Given the description of an element on the screen output the (x, y) to click on. 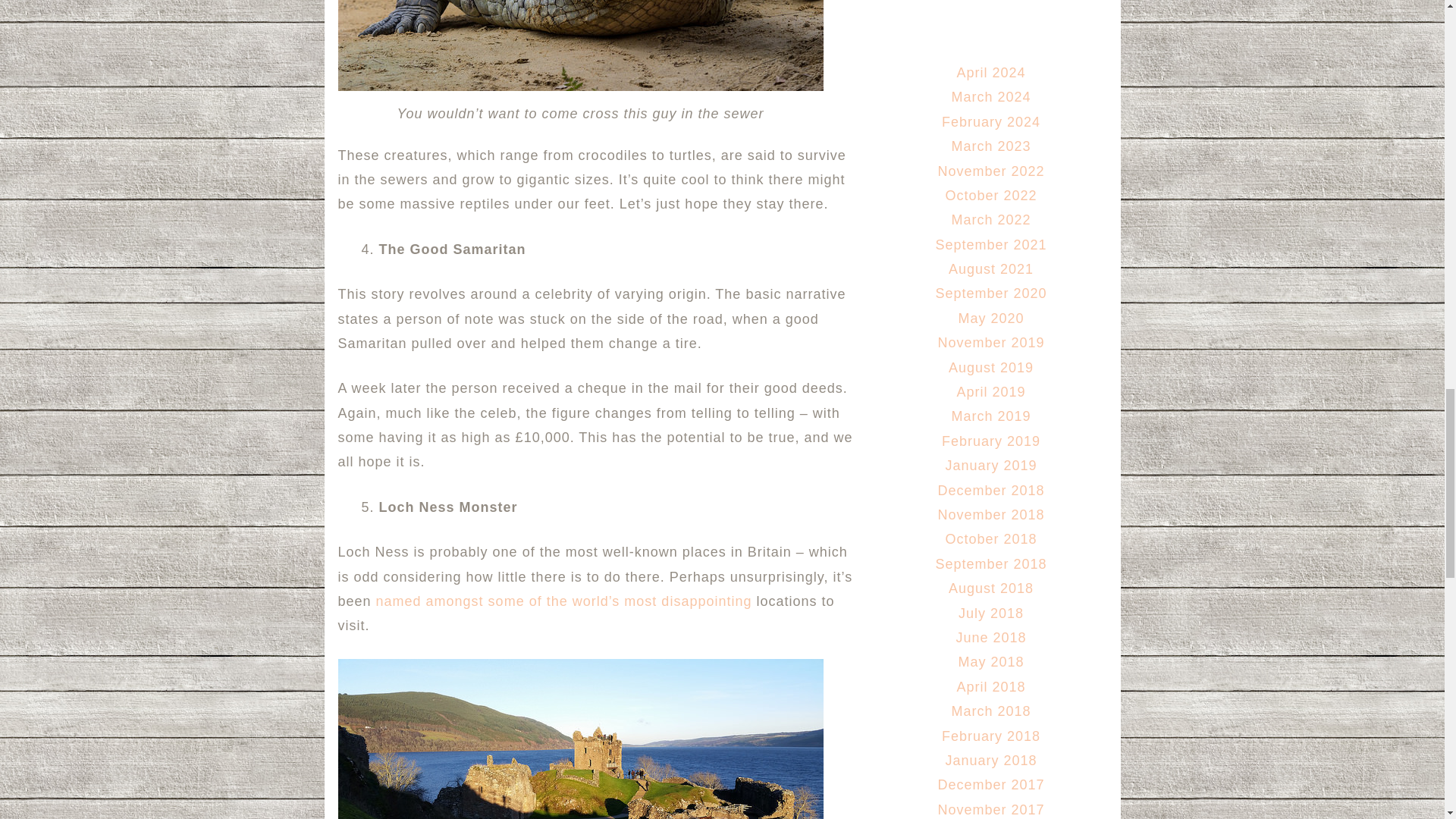
March 2024 (990, 96)
February 2024 (991, 121)
April 2024 (990, 72)
